Given the description of an element on the screen output the (x, y) to click on. 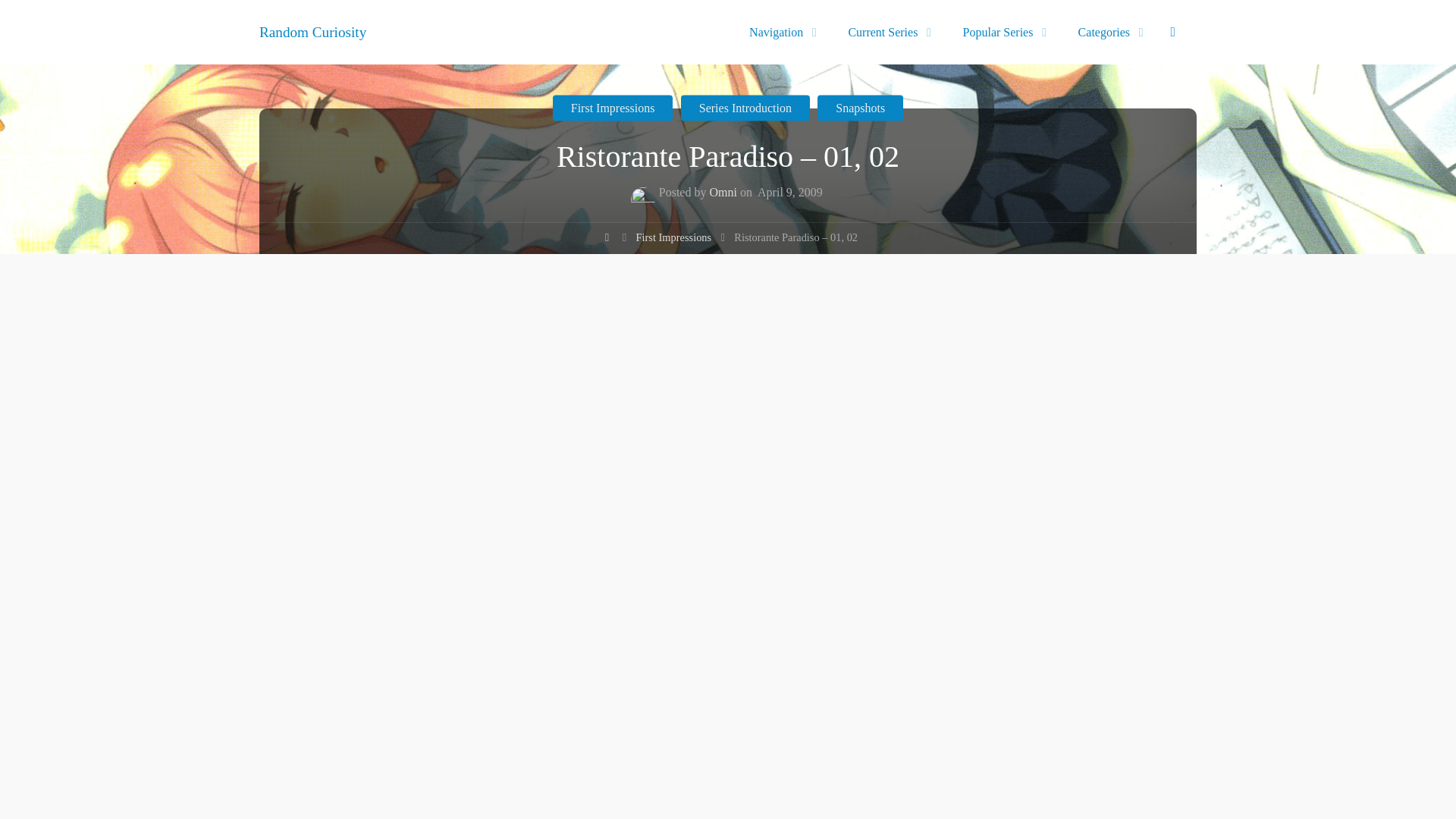
Navigation (778, 32)
Random Curiosity (312, 31)
Current Series (885, 32)
View all posts by Omni (722, 194)
Home (606, 239)
Daily Anime Goodness (312, 31)
